Given the description of an element on the screen output the (x, y) to click on. 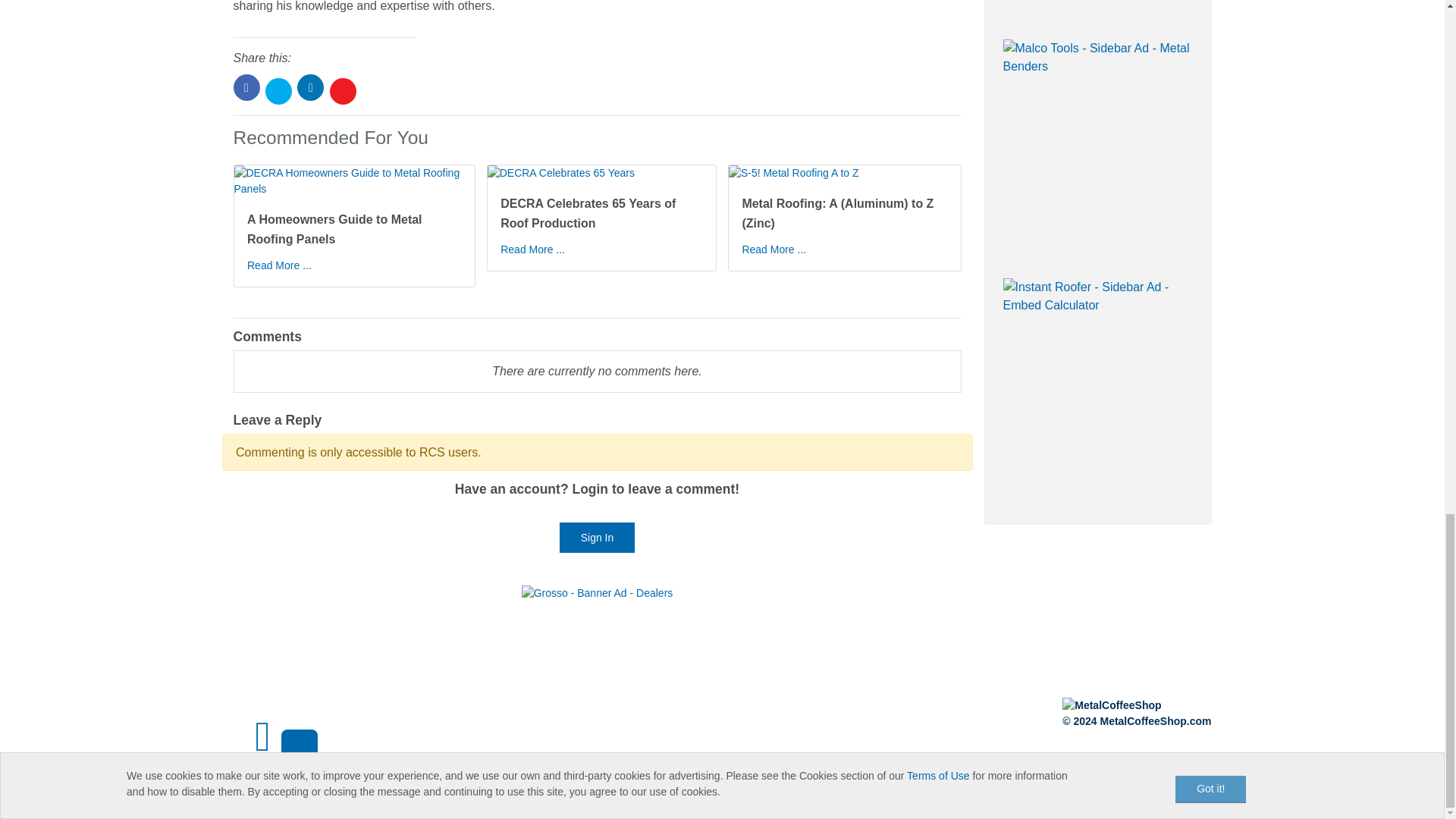
S-5! Metal Roofing A to Z (844, 172)
DECRA Homeowners Guide to Metal Roofing Panels (353, 181)
DECRA Celebrates 65 Years (601, 172)
Grosso - Banner Ad - Dealers (596, 593)
